Given the description of an element on the screen output the (x, y) to click on. 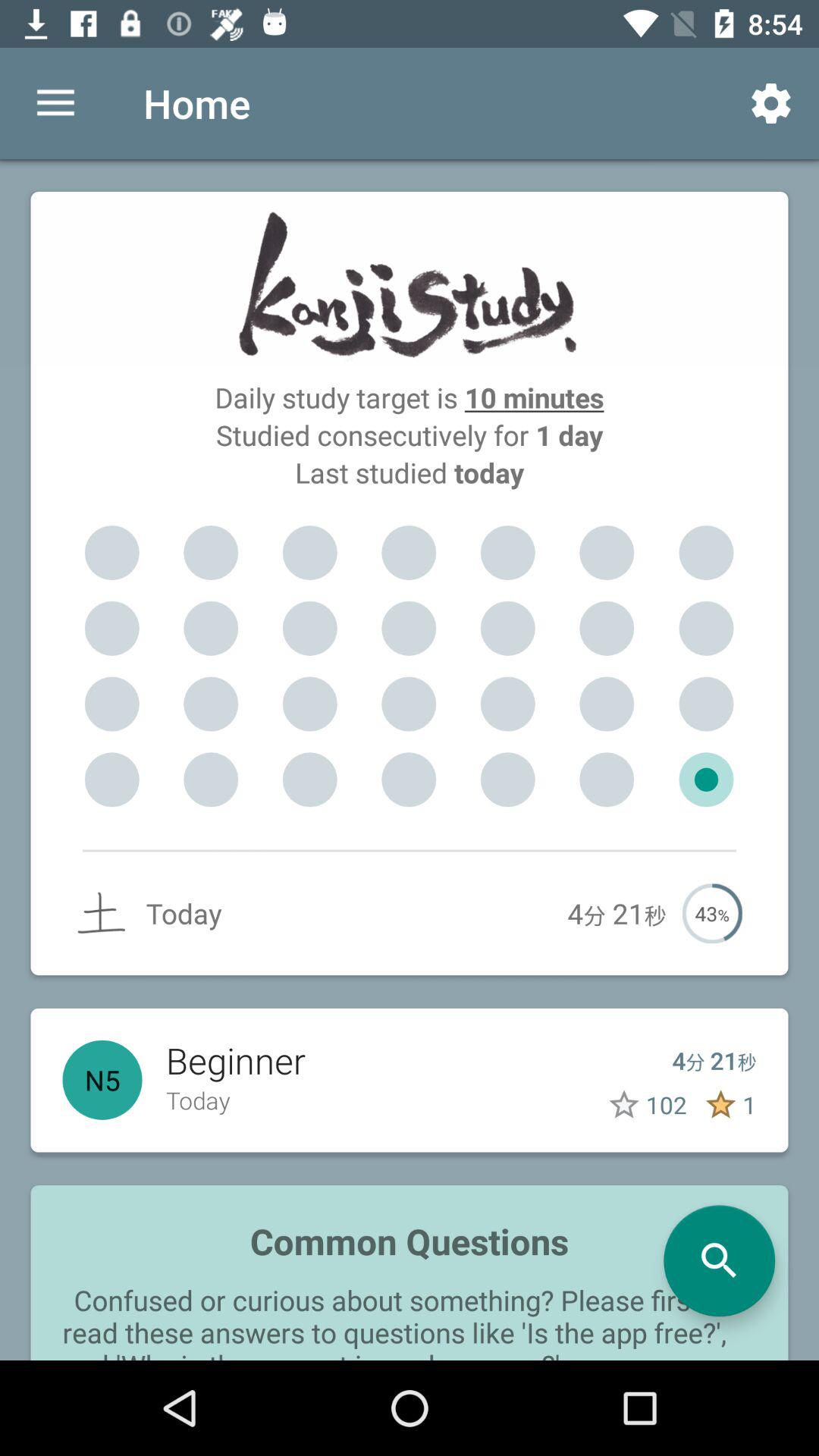
search questions button (719, 1260)
